Given the description of an element on the screen output the (x, y) to click on. 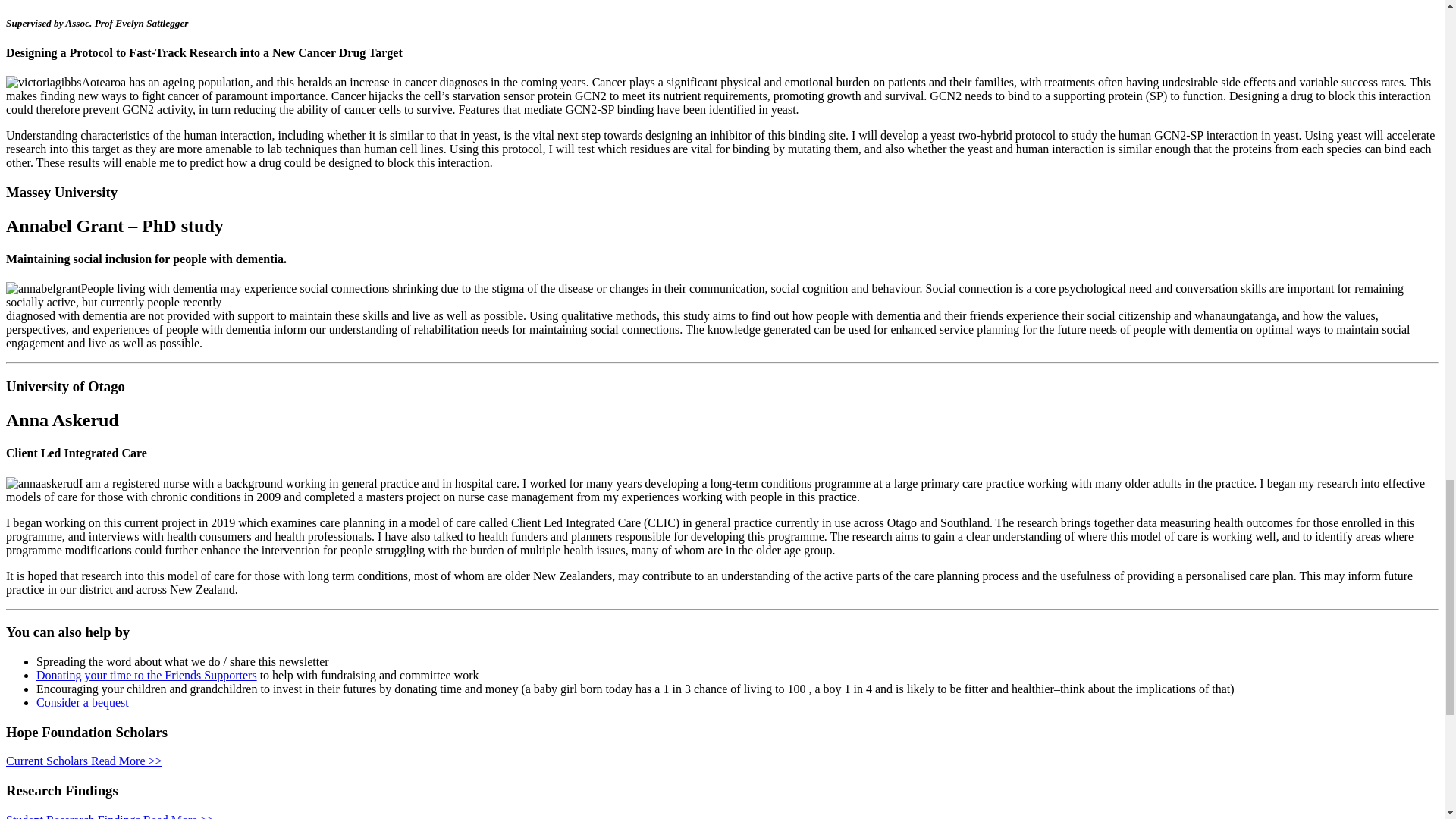
Consider a bequest (82, 702)
Donating your time to the Friends Supporters (146, 675)
